Given the description of an element on the screen output the (x, y) to click on. 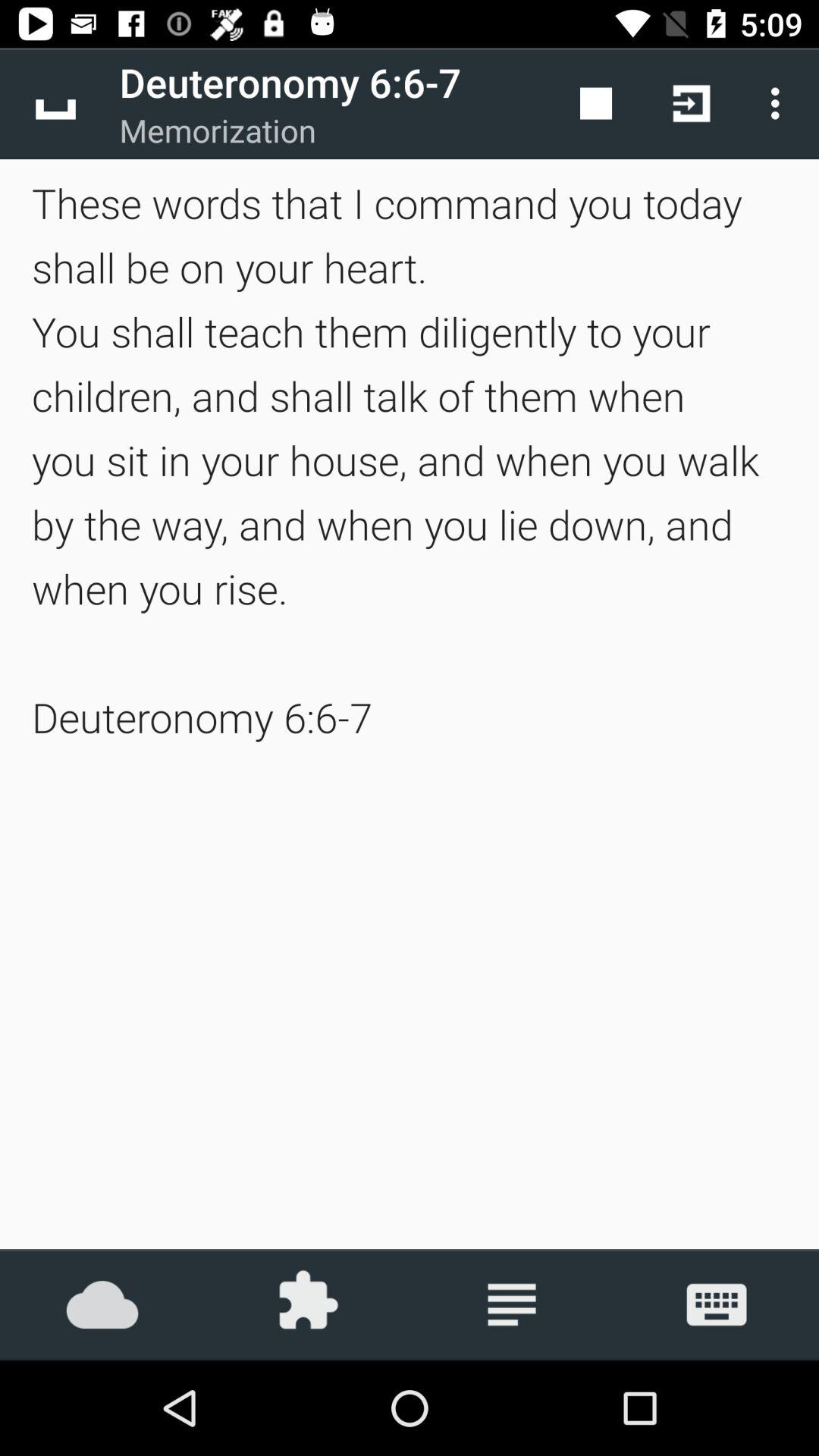
toggle keyboard (716, 1304)
